Given the description of an element on the screen output the (x, y) to click on. 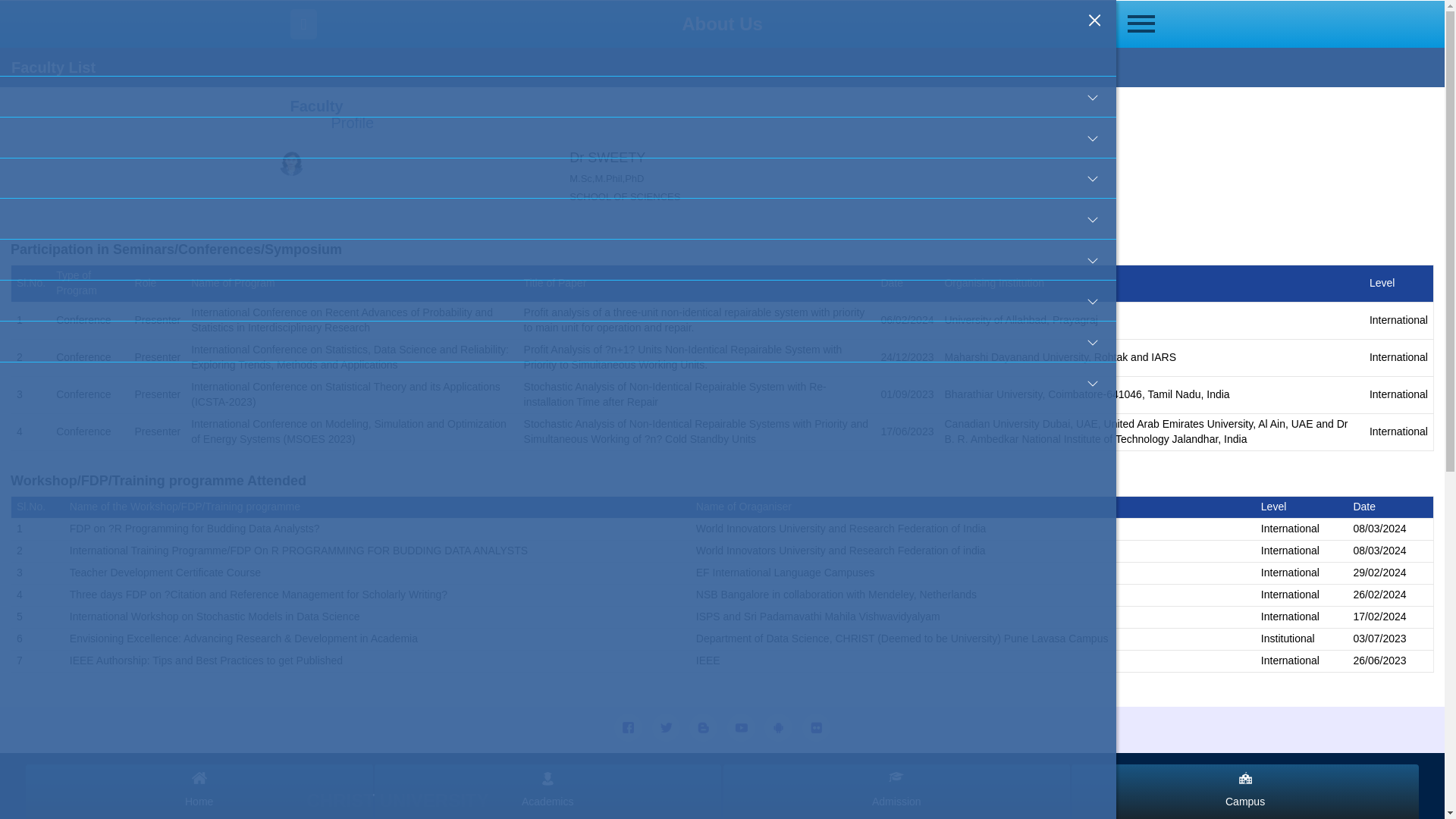
About Us (558, 96)
Home (558, 56)
Academics (558, 137)
Student Life (558, 219)
Research (558, 178)
